Given the description of an element on the screen output the (x, y) to click on. 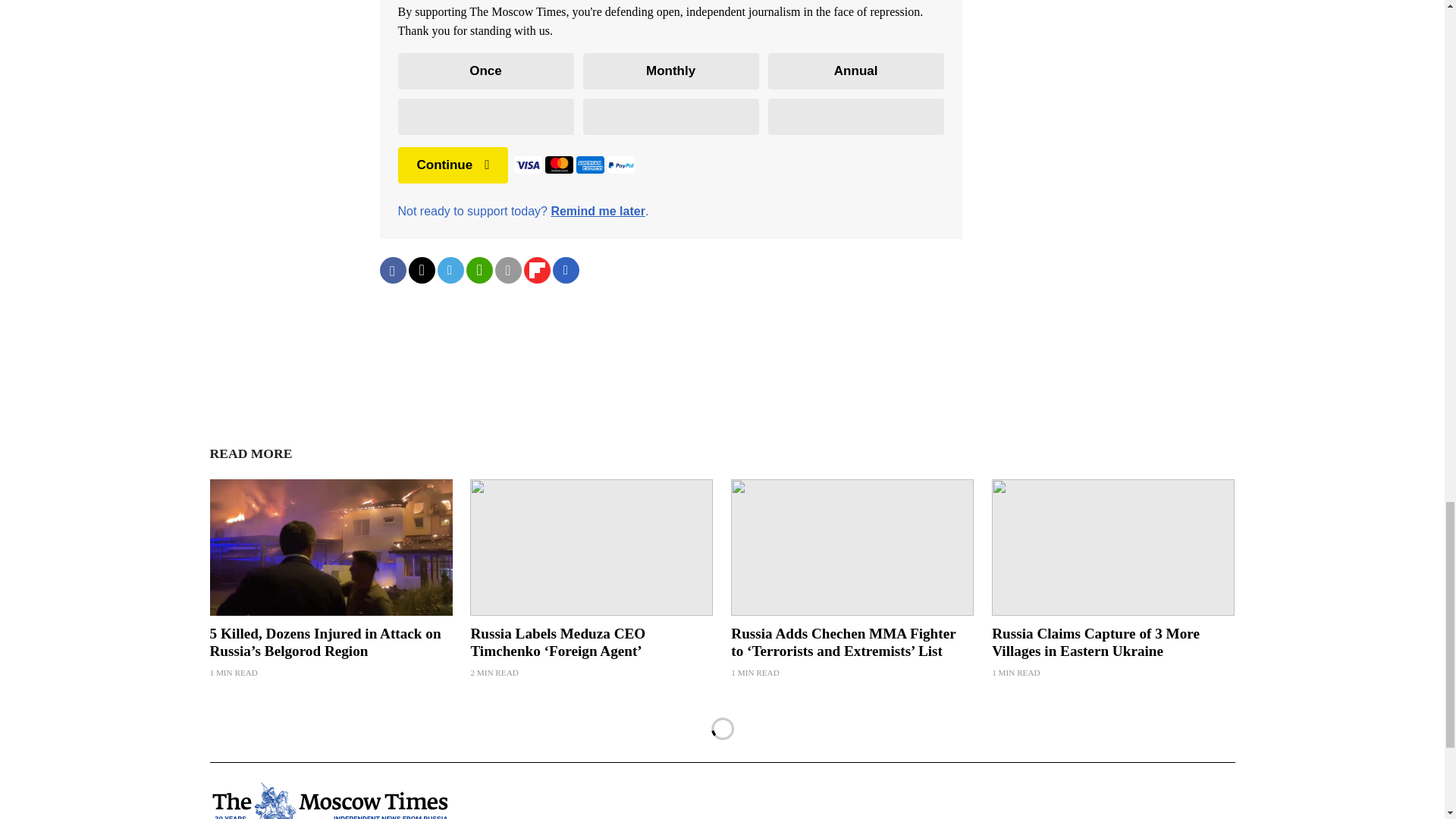
Share on Telegram (449, 270)
Share on Flipboard (536, 270)
Share on Twitter (420, 270)
Share on Facebook (392, 270)
